Given the description of an element on the screen output the (x, y) to click on. 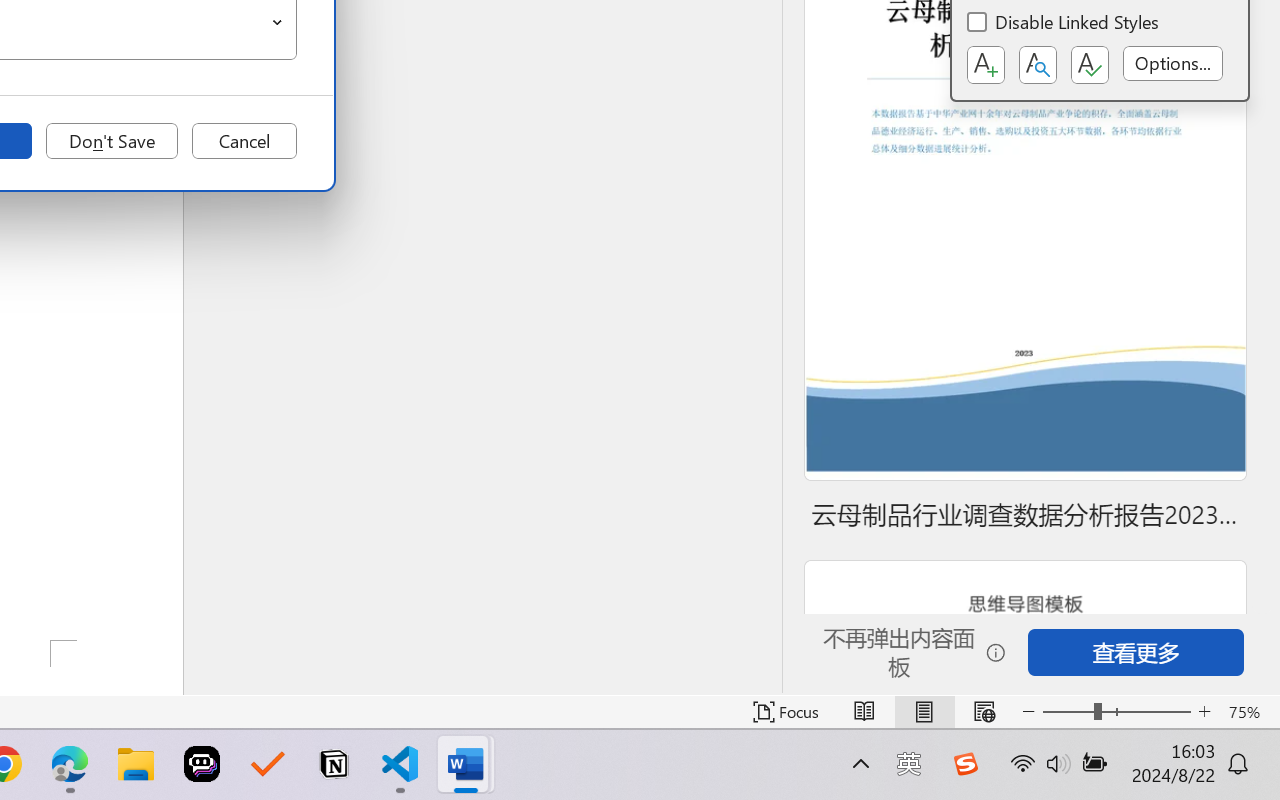
Zoom Out (1067, 712)
